Given the description of an element on the screen output the (x, y) to click on. 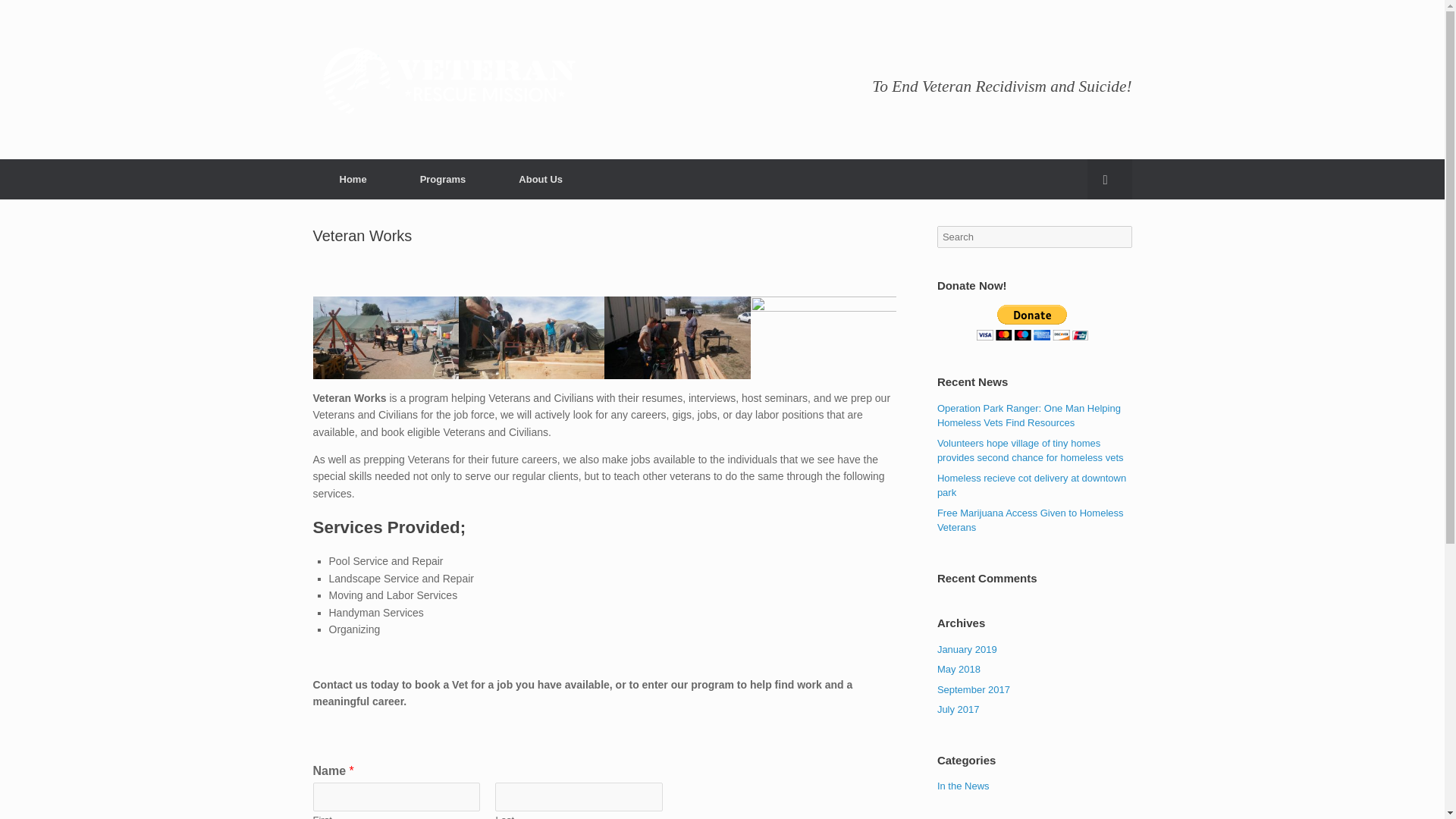
January 2019 (967, 648)
September 2017 (973, 689)
In the News (963, 785)
Veteran Rescue Mission (449, 79)
Free Marijuana Access Given to Homeless Veterans (1030, 519)
Programs (443, 178)
About Us (540, 178)
May 2018 (958, 668)
